Given the description of an element on the screen output the (x, y) to click on. 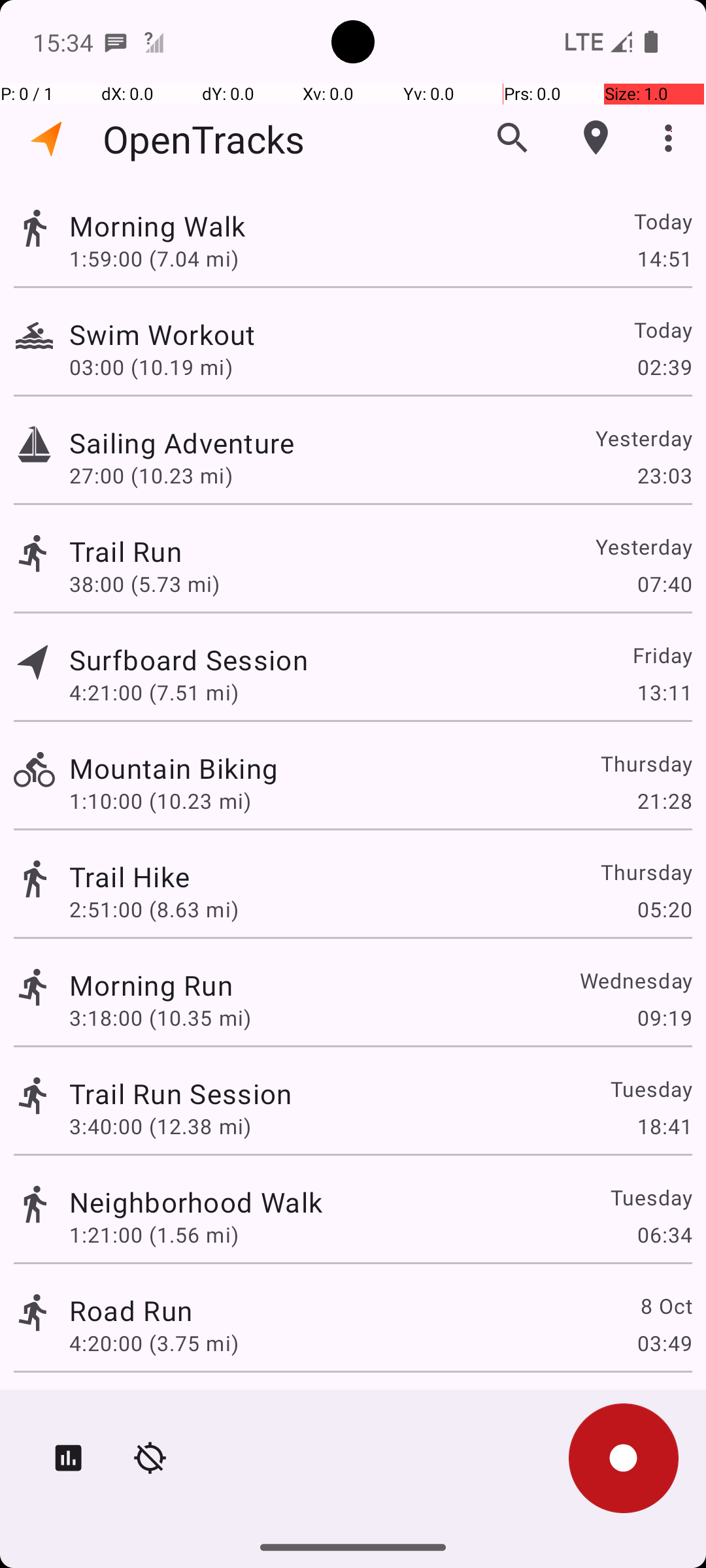
Morning Walk Element type: android.widget.TextView (157, 225)
1:59:00 (7.04 mi) Element type: android.widget.TextView (153, 258)
14:51 Element type: android.widget.TextView (664, 258)
Swim Workout Element type: android.widget.TextView (162, 333)
03:00 (10.19 mi) Element type: android.widget.TextView (150, 366)
02:39 Element type: android.widget.TextView (664, 366)
Sailing Adventure Element type: android.widget.TextView (181, 442)
27:00 (10.23 mi) Element type: android.widget.TextView (150, 475)
23:03 Element type: android.widget.TextView (664, 475)
Trail Run Element type: android.widget.TextView (125, 550)
38:00 (5.73 mi) Element type: android.widget.TextView (144, 583)
07:40 Element type: android.widget.TextView (664, 583)
Surfboard Session Element type: android.widget.TextView (188, 659)
4:21:00 (7.51 mi) Element type: android.widget.TextView (153, 692)
13:11 Element type: android.widget.TextView (664, 692)
Mountain Biking Element type: android.widget.TextView (173, 767)
1:10:00 (10.23 mi) Element type: android.widget.TextView (159, 800)
21:28 Element type: android.widget.TextView (664, 800)
Trail Hike Element type: android.widget.TextView (129, 876)
2:51:00 (8.63 mi) Element type: android.widget.TextView (153, 909)
05:20 Element type: android.widget.TextView (664, 909)
Morning Run Element type: android.widget.TextView (150, 984)
3:18:00 (10.35 mi) Element type: android.widget.TextView (159, 1017)
09:19 Element type: android.widget.TextView (664, 1017)
Trail Run Session Element type: android.widget.TextView (180, 1092)
3:40:00 (12.38 mi) Element type: android.widget.TextView (159, 1125)
18:41 Element type: android.widget.TextView (664, 1125)
Neighborhood Walk Element type: android.widget.TextView (195, 1201)
1:21:00 (1.56 mi) Element type: android.widget.TextView (153, 1234)
06:34 Element type: android.widget.TextView (664, 1234)
Road Run Element type: android.widget.TextView (130, 1309)
4:20:00 (3.75 mi) Element type: android.widget.TextView (153, 1342)
03:49 Element type: android.widget.TextView (664, 1342)
Bike Tour Element type: android.widget.TextView (128, 1408)
6 Oct Element type: android.widget.TextView (665, 1408)
